Given the description of an element on the screen output the (x, y) to click on. 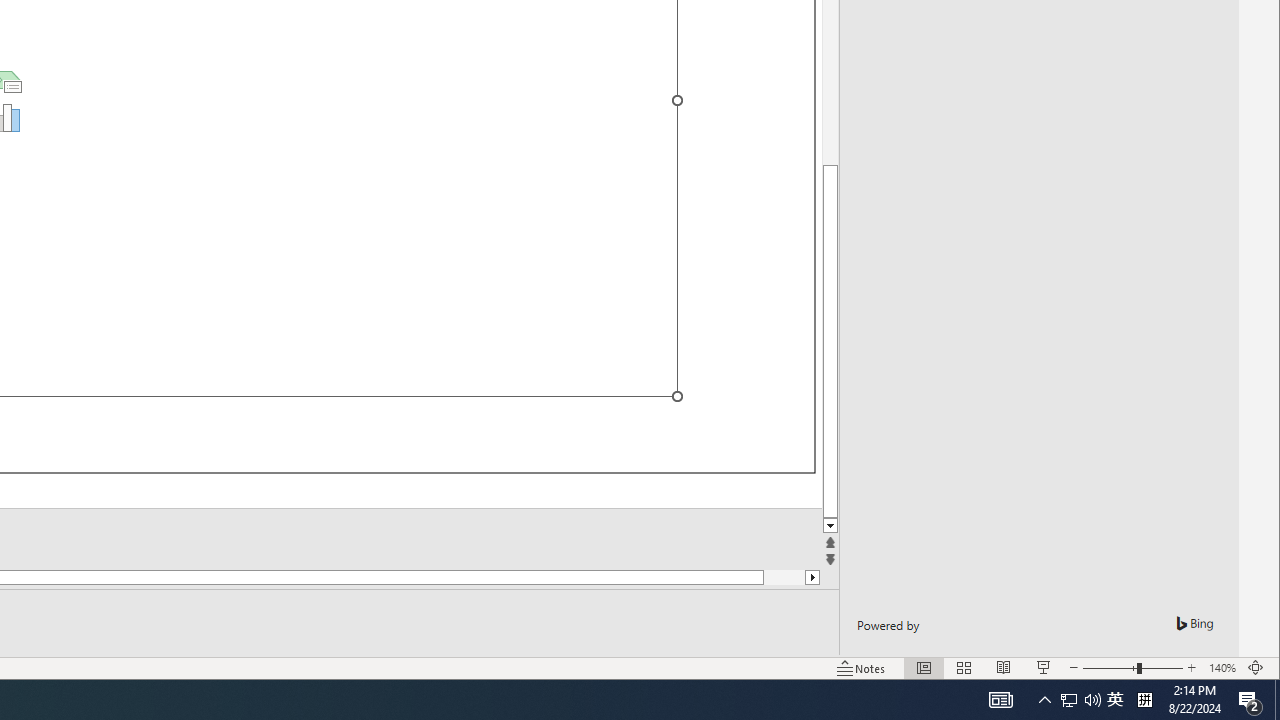
Line down (829, 525)
User Promoted Notification Area (1080, 699)
Page down (764, 577)
Show desktop (1277, 699)
